Given the description of an element on the screen output the (x, y) to click on. 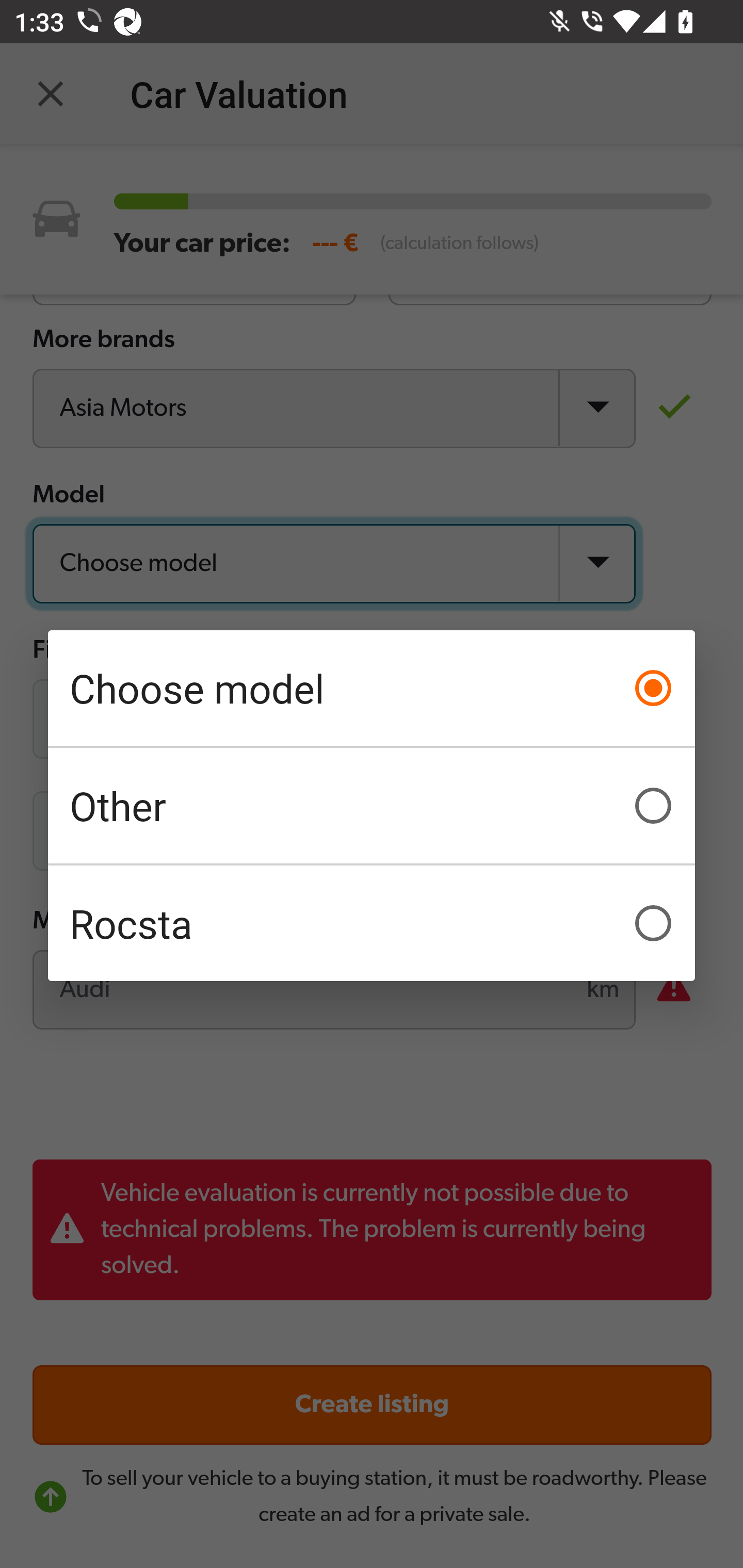
Choose model (371, 688)
Other (371, 805)
Rocsta (371, 923)
